Given the description of an element on the screen output the (x, y) to click on. 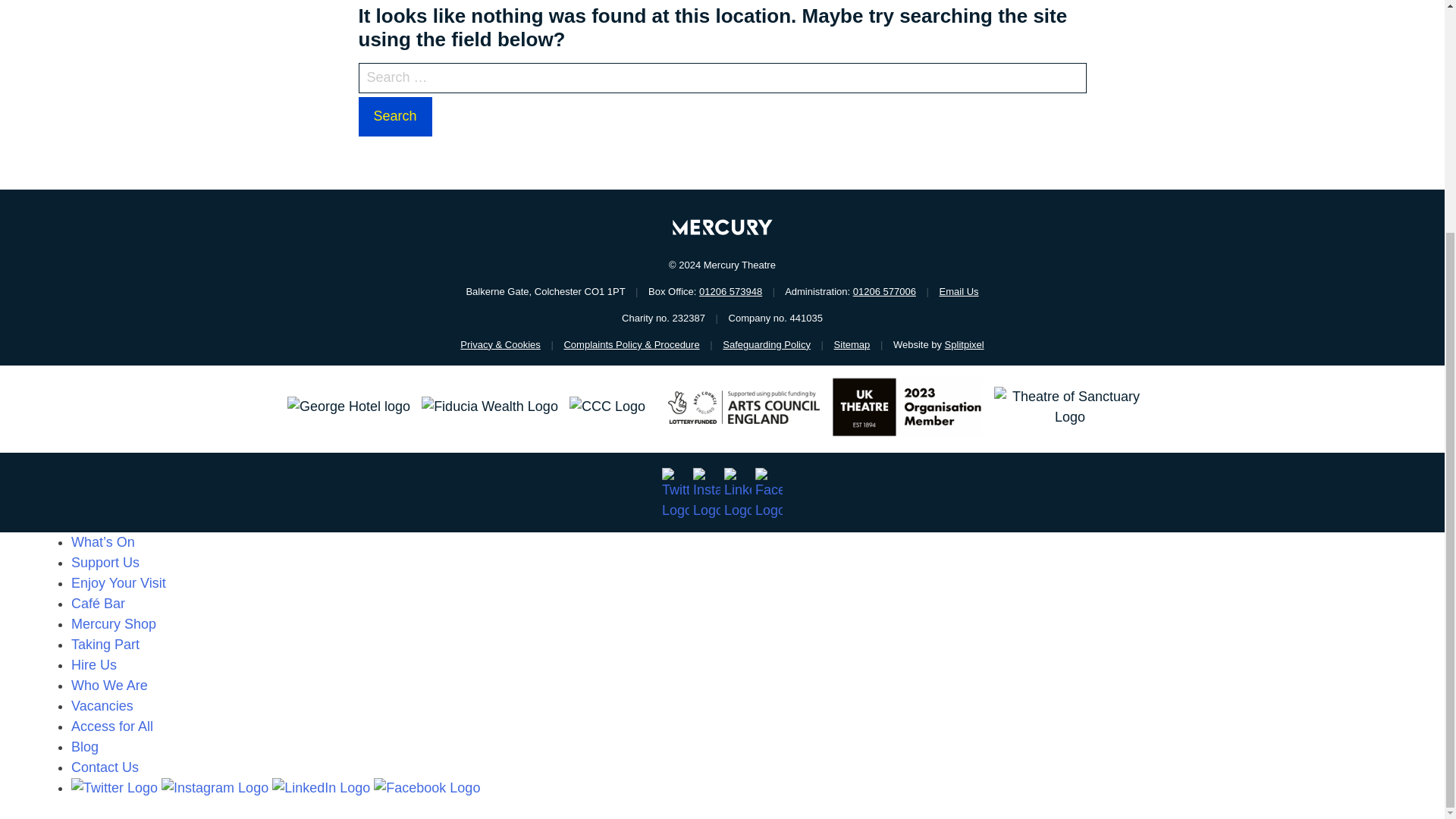
Access for All (111, 726)
Vacancies (102, 705)
Email Us (958, 291)
Mercury Shop (113, 623)
Enjoy Your Visit (118, 582)
Who We Are (109, 685)
Hire Us (93, 664)
Search (394, 116)
01206 573948 (729, 291)
Support Us (105, 562)
